Given the description of an element on the screen output the (x, y) to click on. 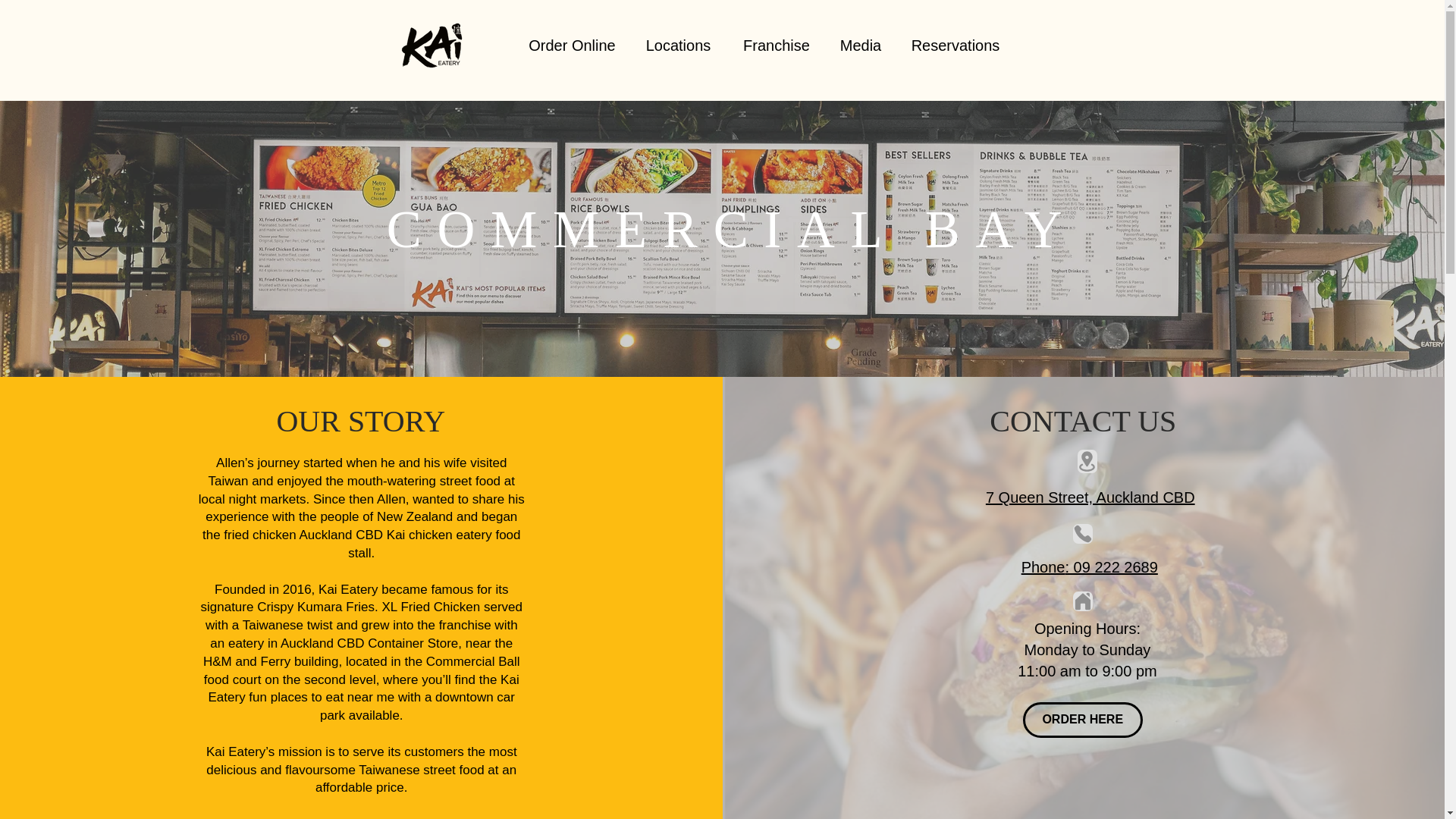
Media (860, 45)
7 Queen Street, Auckland CBD (1090, 497)
Franchise (776, 45)
Phone: 09 222 2689 (1089, 566)
Order Online (571, 45)
ORDER HERE (1082, 719)
Reservations (955, 45)
Locations (678, 45)
